Given the description of an element on the screen output the (x, y) to click on. 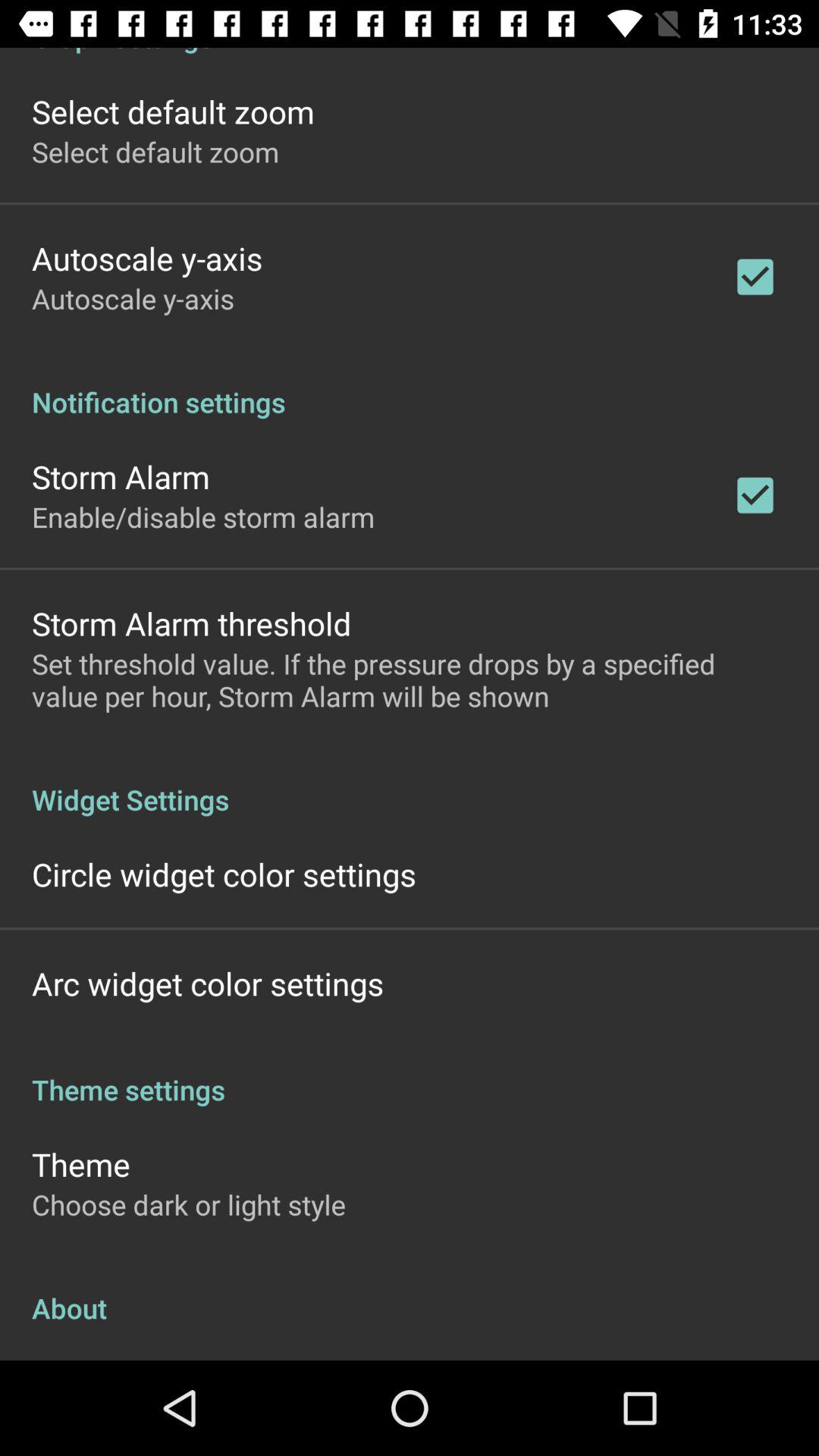
turn off the theme settings app (409, 1073)
